Given the description of an element on the screen output the (x, y) to click on. 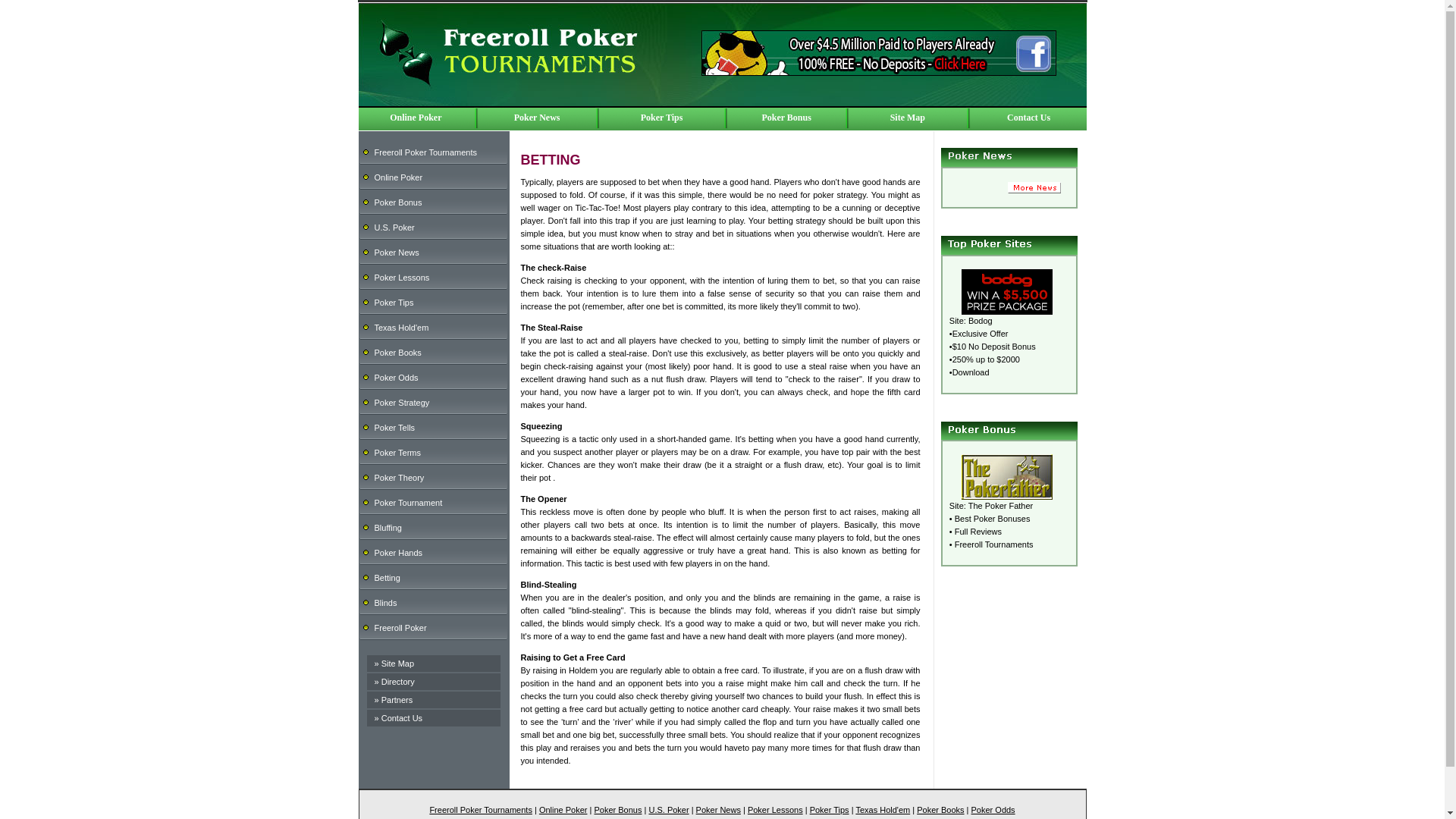
Bodog (980, 320)
U.S. Poker (394, 226)
Poker News (536, 117)
Poker Bonus (785, 117)
Poker Theory (399, 477)
Online Poker (415, 117)
Site Map (397, 663)
The Poker Father (1000, 505)
Best Poker Bonuses (992, 518)
Poker Lessons (401, 276)
Contact Us (401, 717)
Poker Tips (393, 301)
Freeroll Poker Tournaments (425, 151)
Poker Tips (661, 117)
Poker Bonus (398, 201)
